Given the description of an element on the screen output the (x, y) to click on. 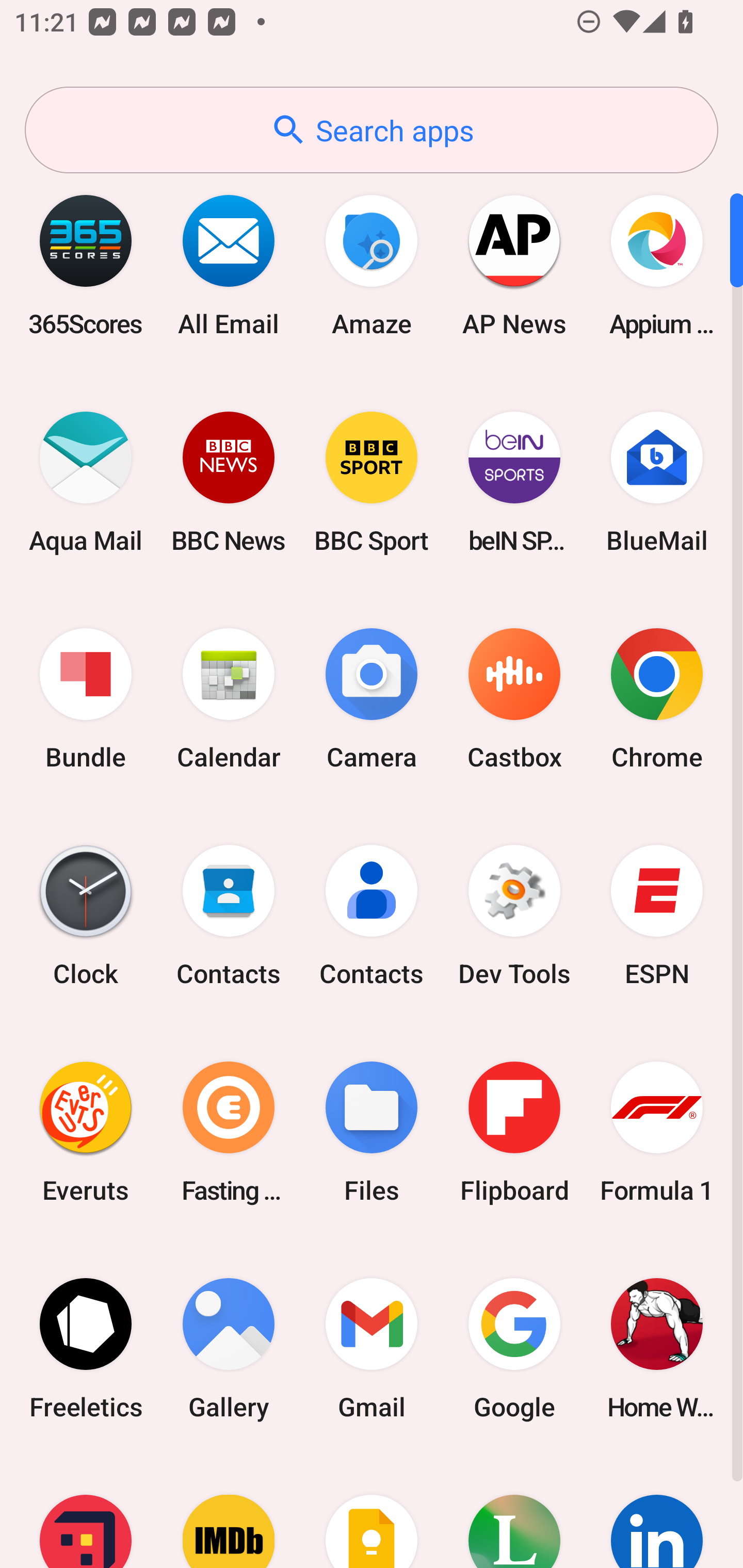
  Search apps (371, 130)
365Scores (85, 264)
All Email (228, 264)
Amaze (371, 264)
AP News (514, 264)
Appium Settings (656, 264)
Aqua Mail (85, 482)
BBC News (228, 482)
BBC Sport (371, 482)
beIN SPORTS (514, 482)
BlueMail (656, 482)
Bundle (85, 699)
Calendar (228, 699)
Camera (371, 699)
Castbox (514, 699)
Chrome (656, 699)
Clock (85, 915)
Contacts (228, 915)
Contacts (371, 915)
Dev Tools (514, 915)
ESPN (656, 915)
Everuts (85, 1131)
Fasting Coach (228, 1131)
Files (371, 1131)
Flipboard (514, 1131)
Formula 1 (656, 1131)
Freeletics (85, 1348)
Gallery (228, 1348)
Gmail (371, 1348)
Google (514, 1348)
Home Workout (656, 1348)
Hotels.com (85, 1512)
IMDb (228, 1512)
Keep Notes (371, 1512)
Lifesum (514, 1512)
LinkedIn (656, 1512)
